Given the description of an element on the screen output the (x, y) to click on. 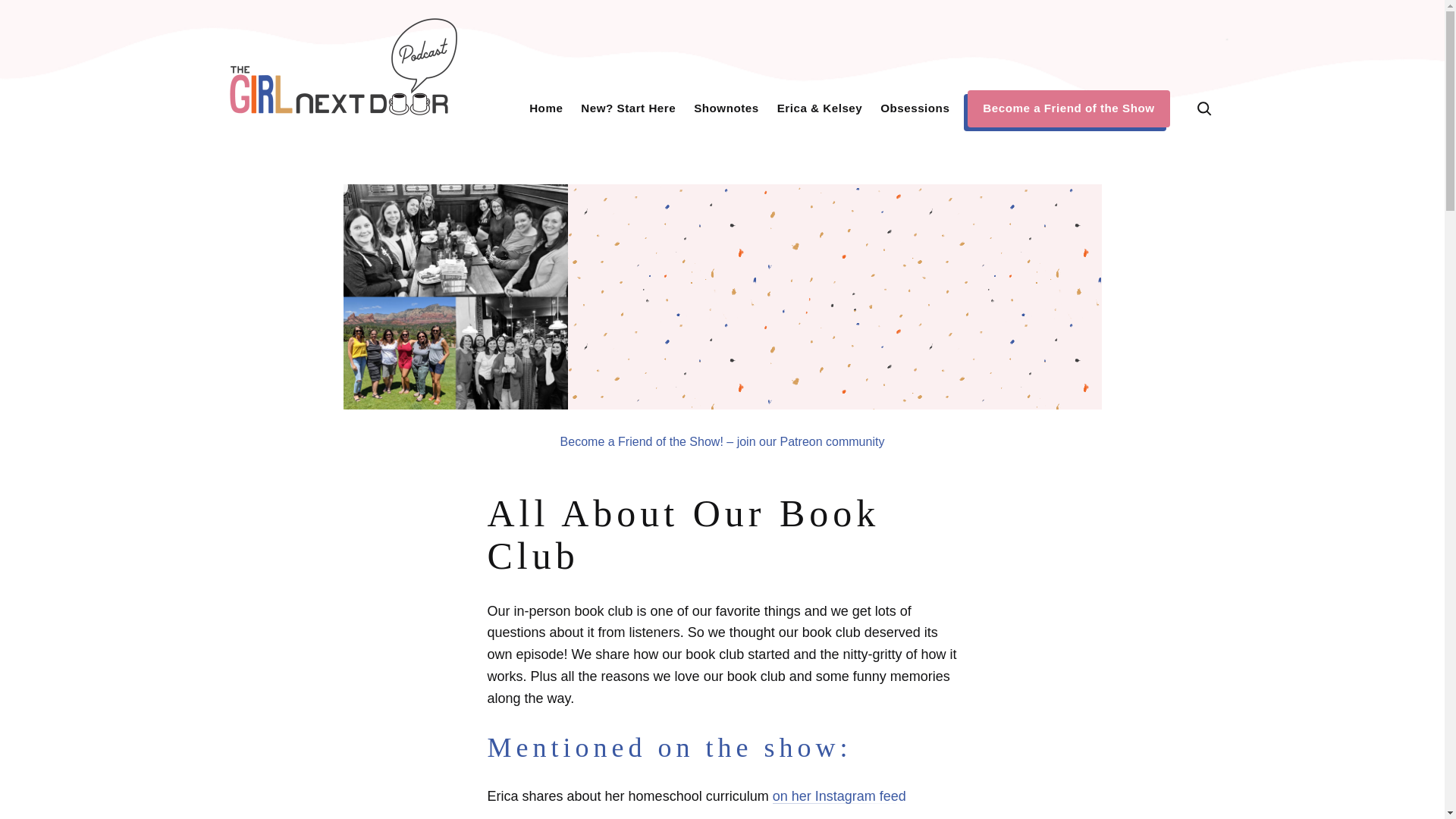
Shownotes (726, 108)
New? Start Here (627, 108)
Home (545, 108)
Become a Friend of the Show (1068, 108)
on her Instagram feed (839, 795)
Obsessions (914, 108)
